Given the description of an element on the screen output the (x, y) to click on. 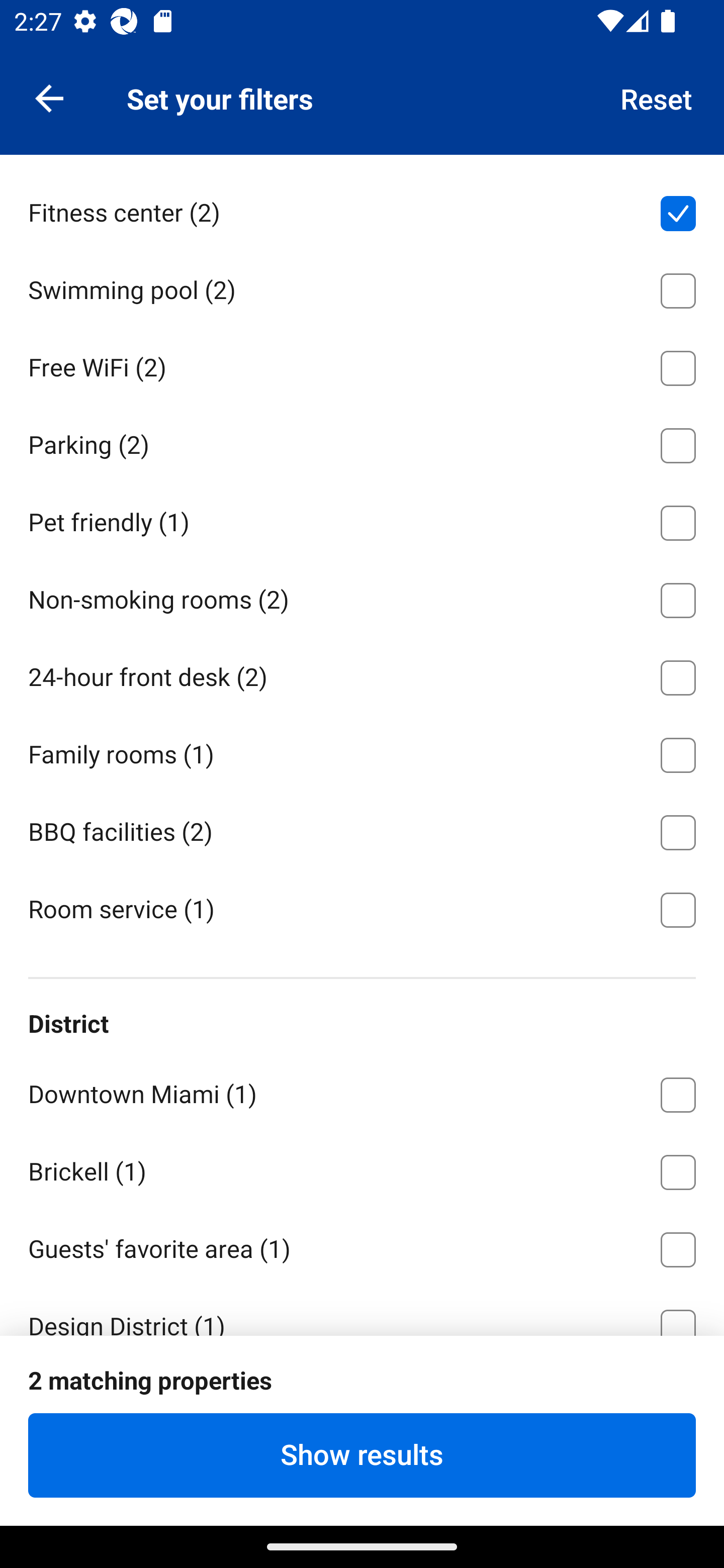
Navigate up (49, 97)
Reset (656, 97)
Fitness center ⁦(2) (361, 209)
Swimming pool ⁦(2) (361, 287)
Free WiFi ⁦(2) (361, 364)
Parking ⁦(2) (361, 441)
Pet friendly ⁦(1) (361, 519)
Non-smoking rooms ⁦(2) (361, 596)
24-hour front desk ⁦(2) (361, 674)
Family rooms ⁦(1) (361, 751)
BBQ facilities ⁦(2) (361, 829)
Room service ⁦(1) (361, 908)
Downtown Miami ⁦(1) (361, 1091)
Brickell ⁦(1) (361, 1168)
Guests' favorite area ⁦(1) (361, 1246)
Design District ⁦(1) (361, 1310)
Show results (361, 1454)
